Given the description of an element on the screen output the (x, y) to click on. 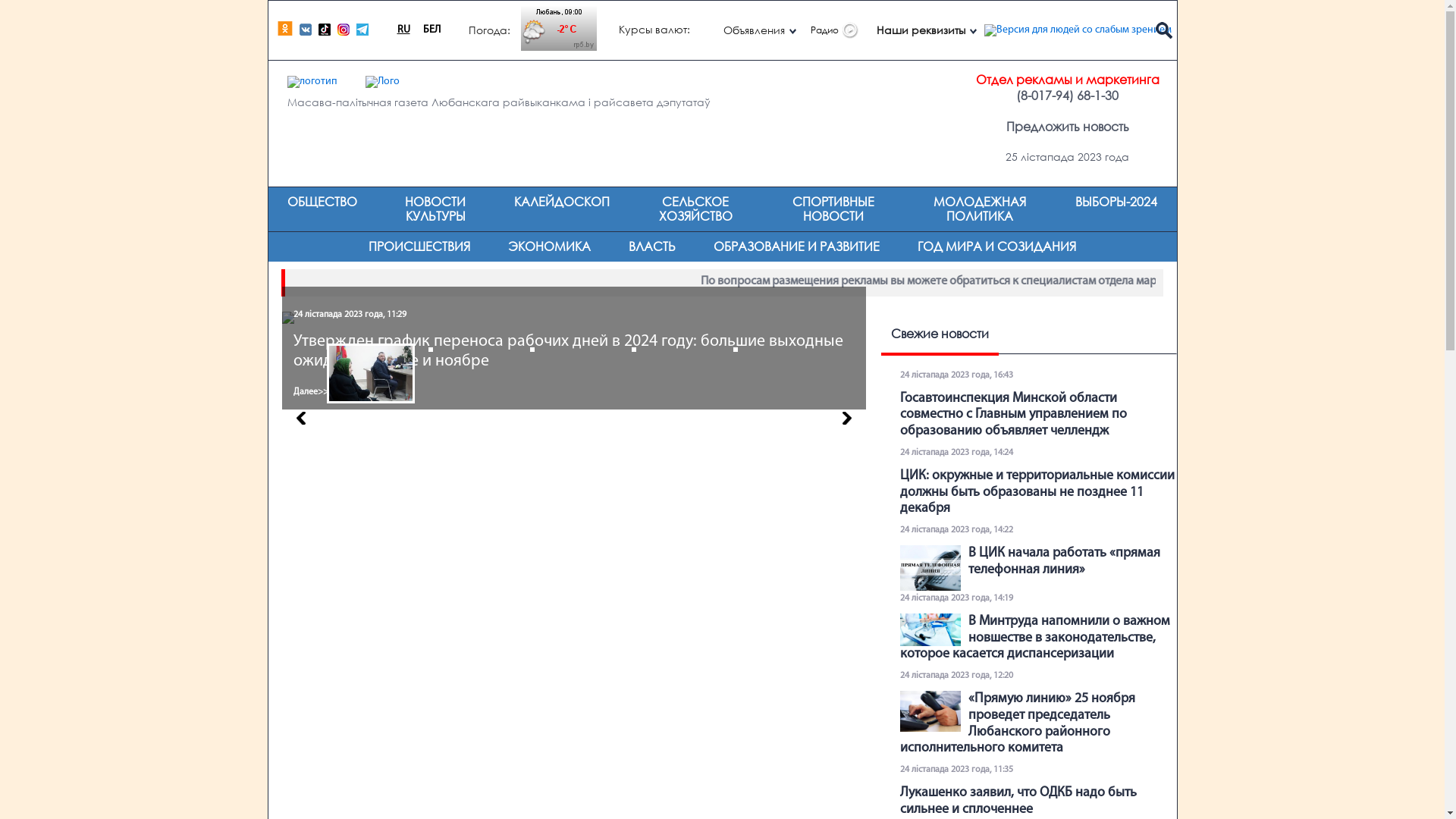
Telegram Element type: hover (362, 28)
Prev Element type: text (291, 417)
vk.com Element type: hover (304, 28)
RU Element type: text (403, 29)
Telegram Element type: hover (364, 32)
vk.com Element type: hover (307, 32)
Instagram Element type: hover (345, 32)
ok.ru Element type: hover (288, 32)
Instagram Element type: hover (342, 28)
ok.ru Element type: hover (284, 28)
Next Element type: text (846, 417)
